Given the description of an element on the screen output the (x, y) to click on. 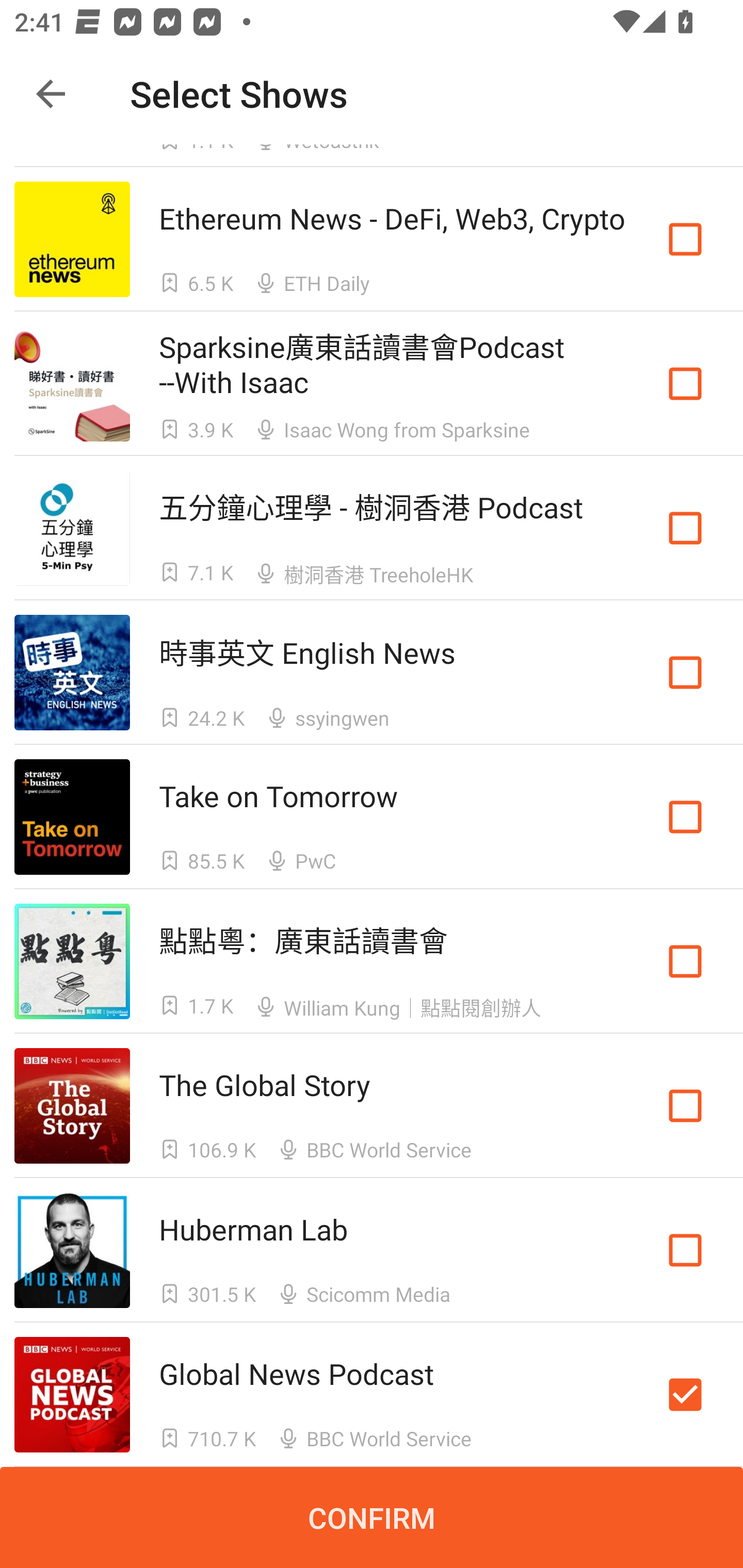
Navigate up (50, 93)
Take on Tomorrow Take on Tomorrow  85.5 K  PwC (371, 816)
CONFIRM (371, 1517)
